Given the description of an element on the screen output the (x, y) to click on. 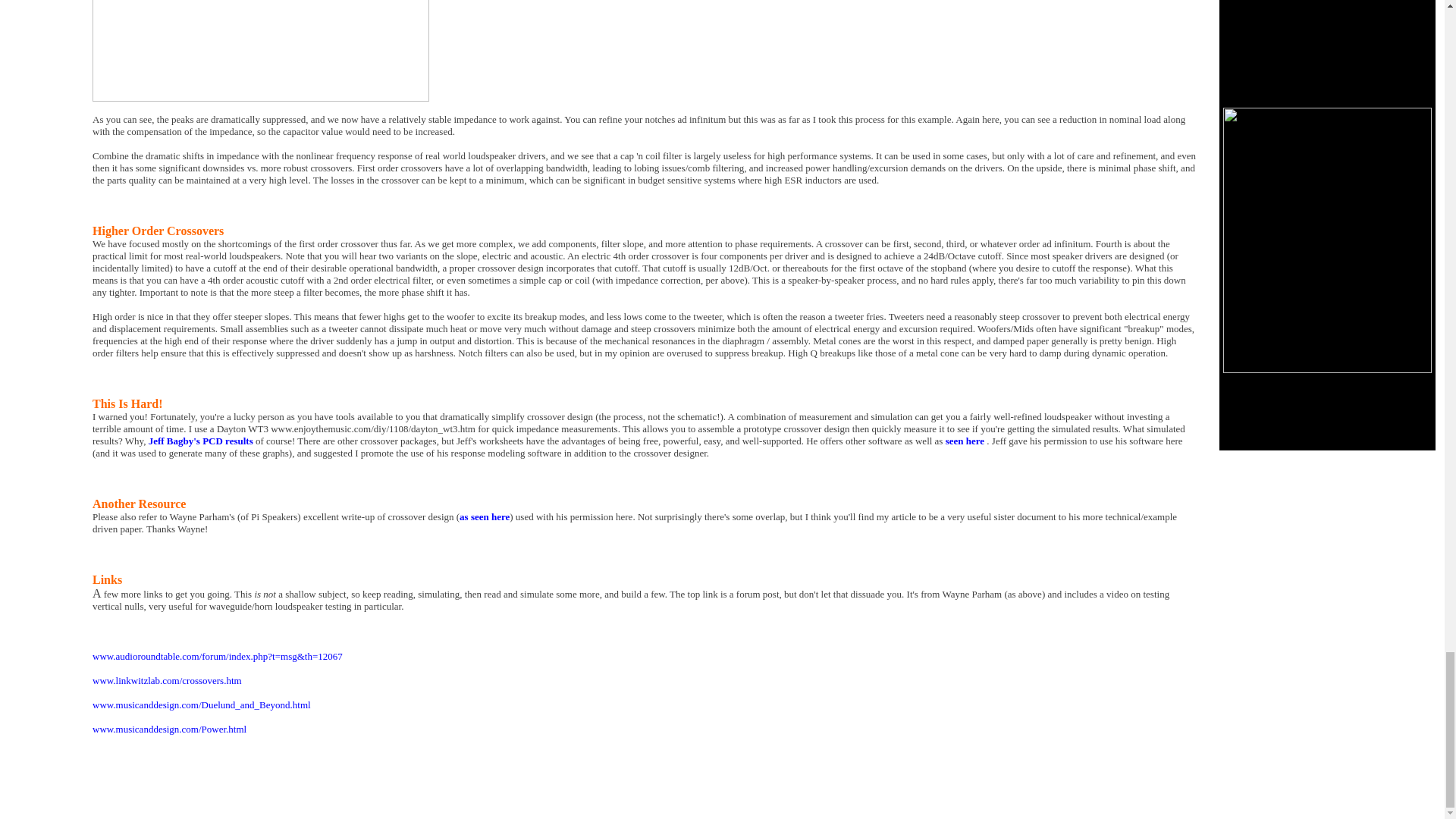
as seen here (484, 516)
Jeff Bagby's PCD results (200, 440)
seen here (964, 440)
